Given the description of an element on the screen output the (x, y) to click on. 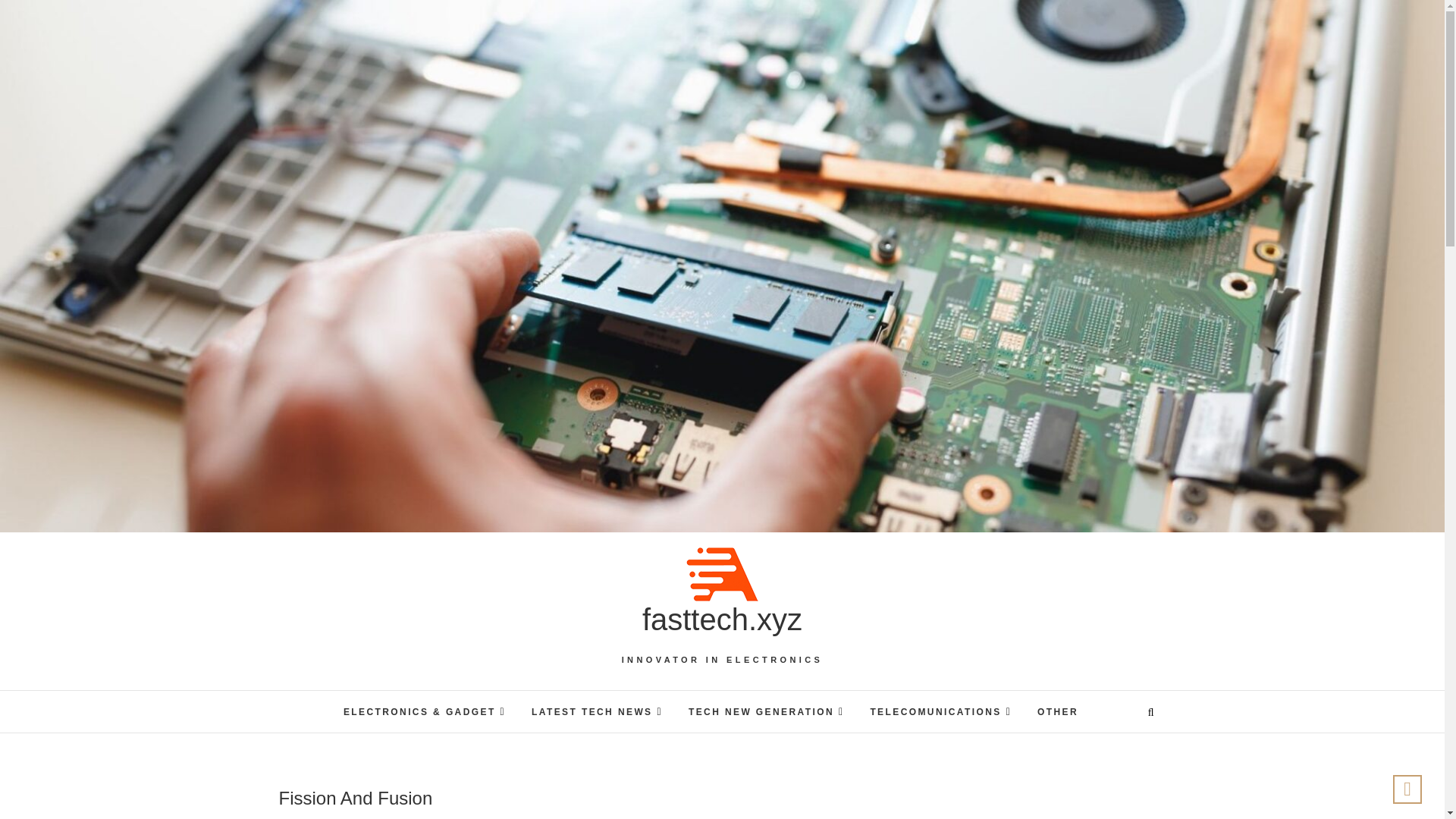
Go to Top (1407, 788)
fasttech.xyz (721, 619)
LATEST TECH NEWS (596, 711)
TELECOMUNICATIONS (941, 711)
fasttech.xyz (721, 619)
OTHER (1057, 712)
TECH NEW GENERATION (766, 711)
